Given the description of an element on the screen output the (x, y) to click on. 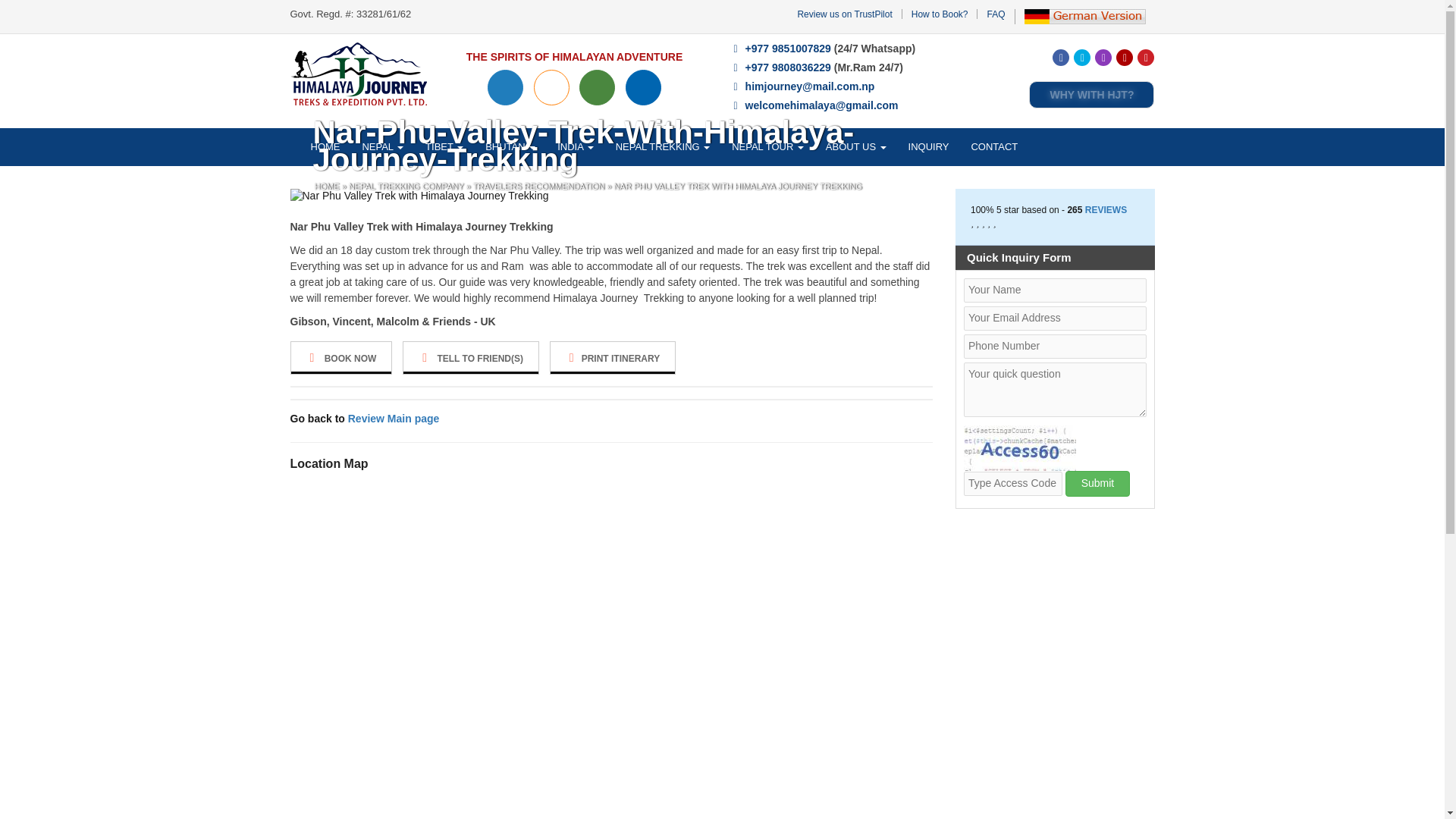
HOME (325, 146)
FAQ (995, 14)
NEPAL (382, 146)
Recommended on TripAdvisor (596, 87)
WHY WITH HJT? (1091, 94)
Recommended by Lonely Planet Travel Guide Book (504, 87)
How to Book? (939, 14)
